Given the description of an element on the screen output the (x, y) to click on. 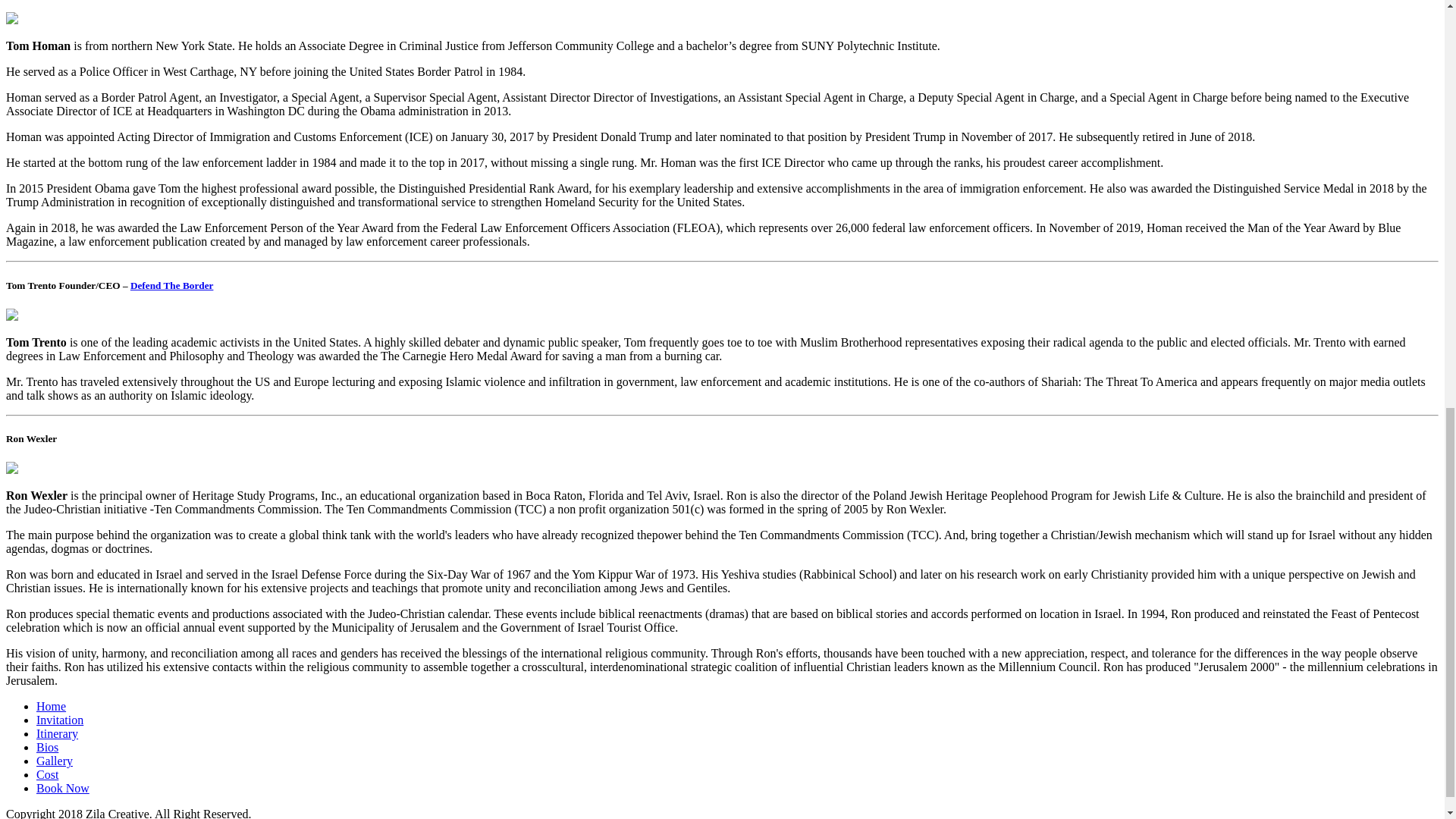
Gallery (54, 760)
Book Now (62, 788)
Itinerary (57, 733)
Invitation (59, 719)
Bios (47, 747)
Home (50, 706)
Cost (47, 774)
Defend The Border (172, 284)
